Given the description of an element on the screen output the (x, y) to click on. 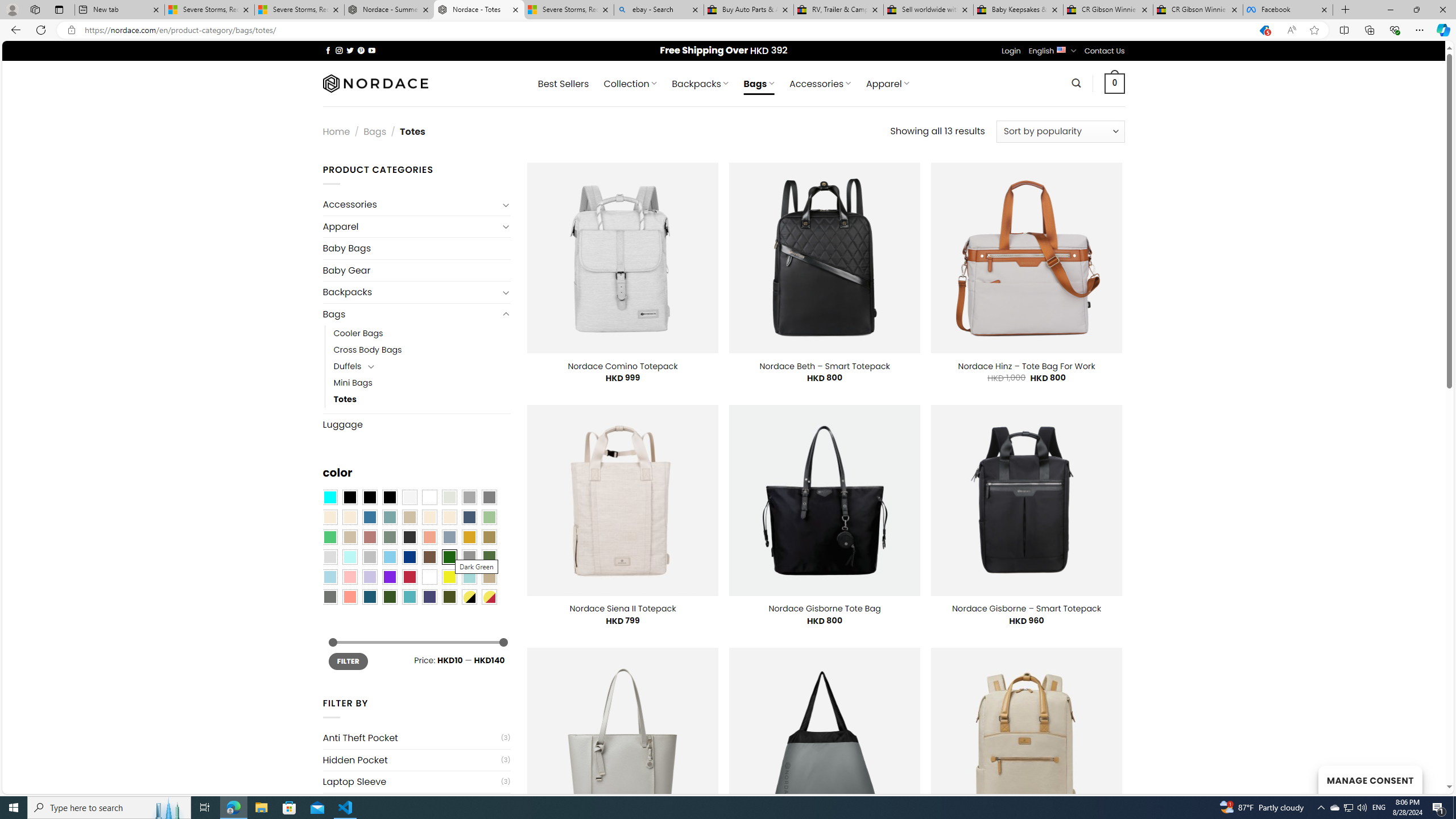
Hidden Pocket(3) (416, 759)
Pink (349, 577)
Beige (329, 517)
Nordace Gisborne Tote Bag (824, 608)
Nordace Comino Totepack (622, 365)
Purple Navy (429, 596)
USB Charging Port(3) (416, 803)
Mini Bags (352, 382)
